Given the description of an element on the screen output the (x, y) to click on. 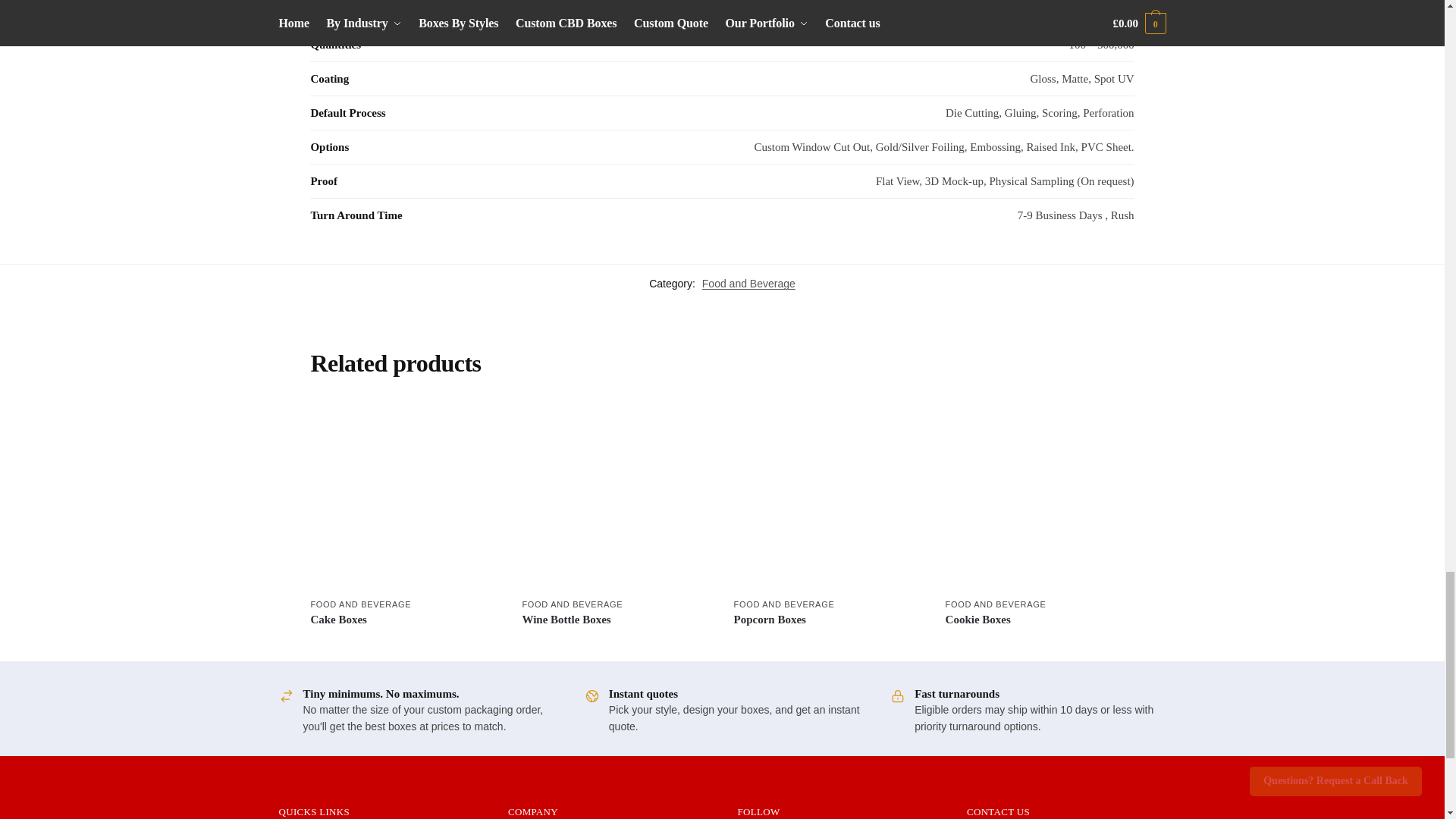
Wine Bottle Boxes (615, 496)
Popcorn Boxes (828, 496)
Cake Boxes (404, 496)
